Given the description of an element on the screen output the (x, y) to click on. 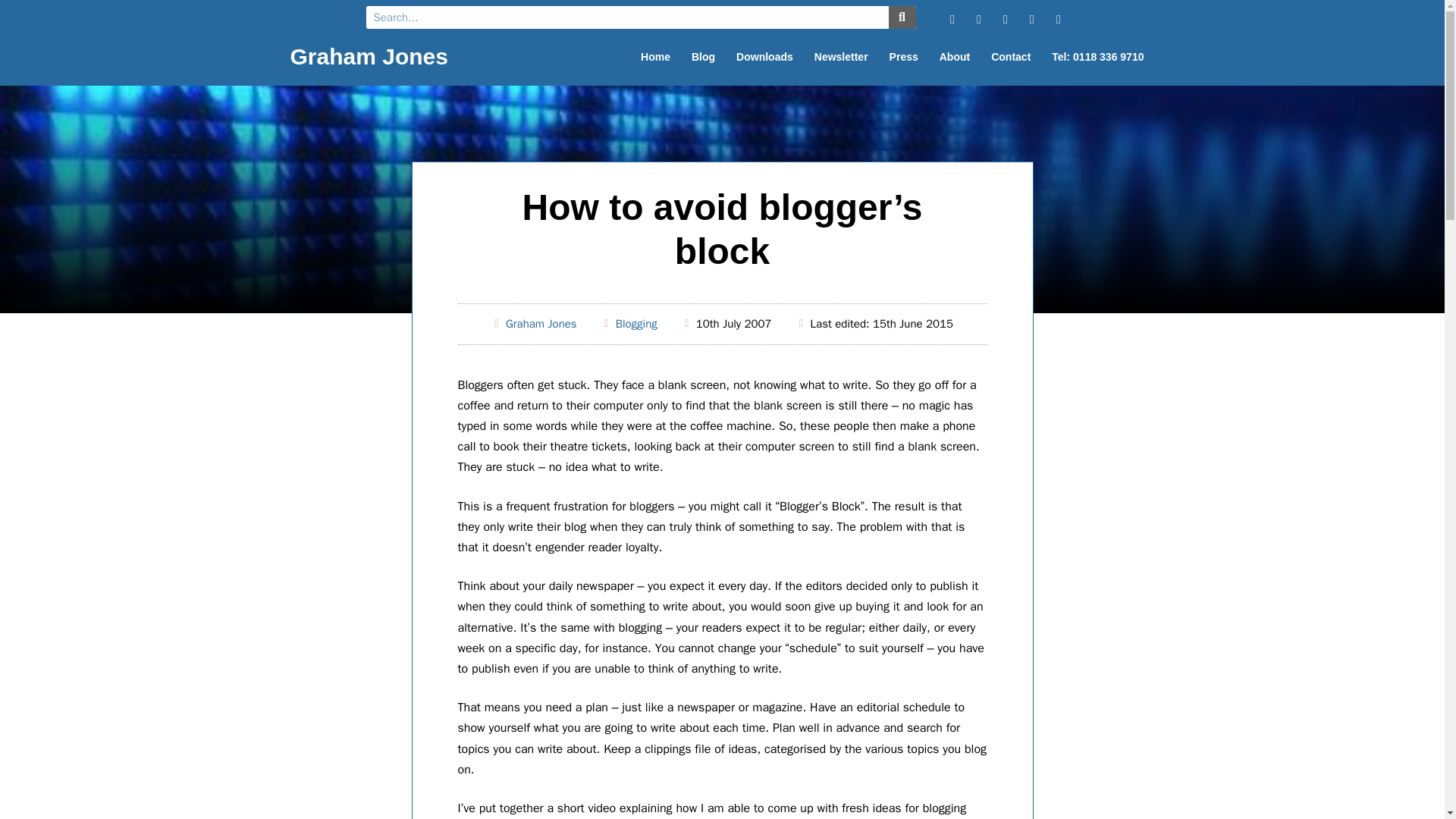
Newsletter (841, 56)
Home (655, 56)
Press (903, 56)
About (953, 56)
Contact (1010, 56)
Tel: 0118 336 9710 (1097, 56)
Downloads (764, 56)
Blog (703, 56)
